Given the description of an element on the screen output the (x, y) to click on. 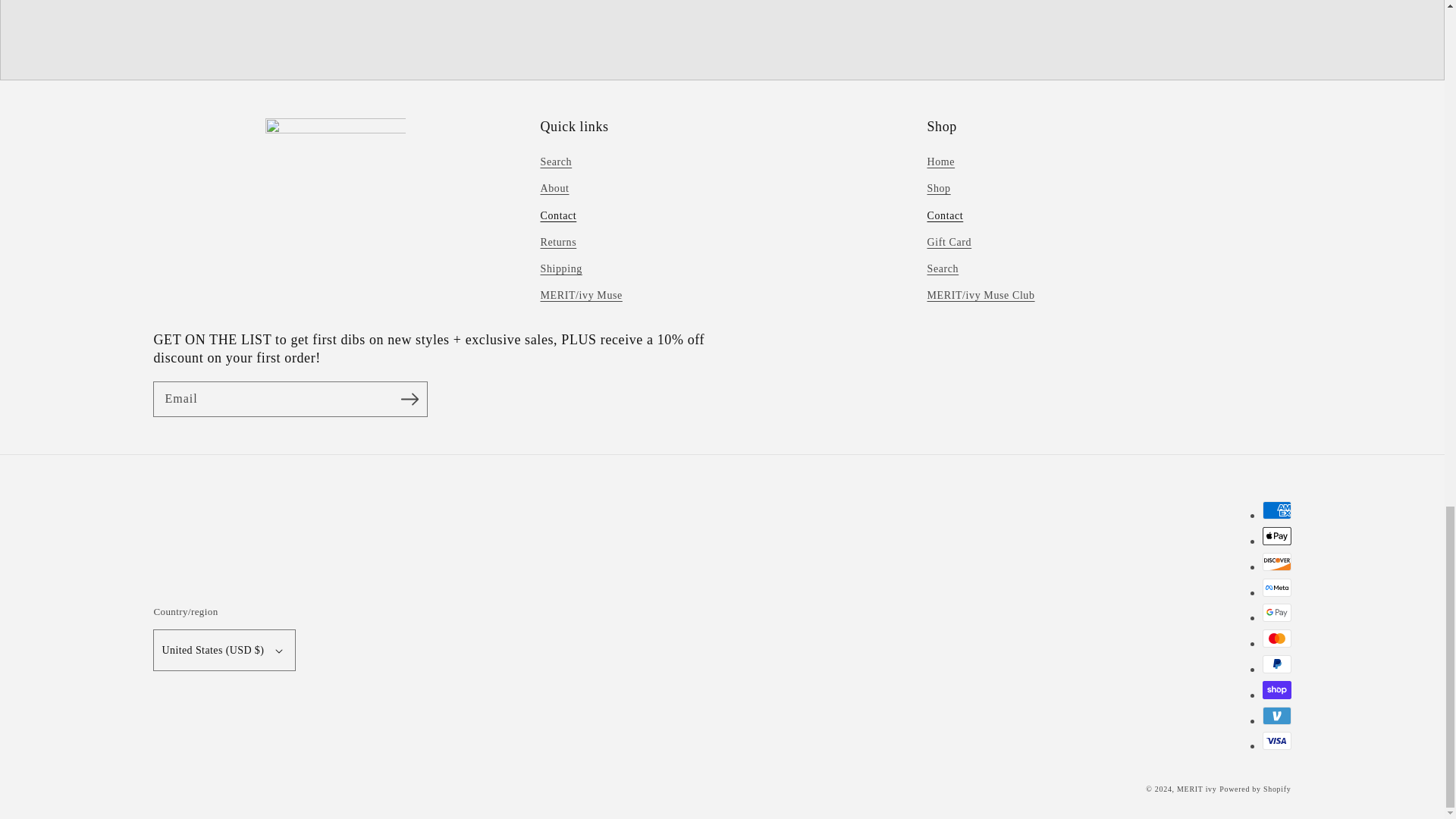
Venmo (1276, 714)
Google Pay (1276, 612)
PayPal (1276, 664)
Meta Pay (1276, 587)
American Express (1276, 510)
Mastercard (1276, 638)
Visa (1276, 741)
Discover (1276, 561)
Apple Pay (1276, 536)
Shop Pay (1276, 689)
